Given the description of an element on the screen output the (x, y) to click on. 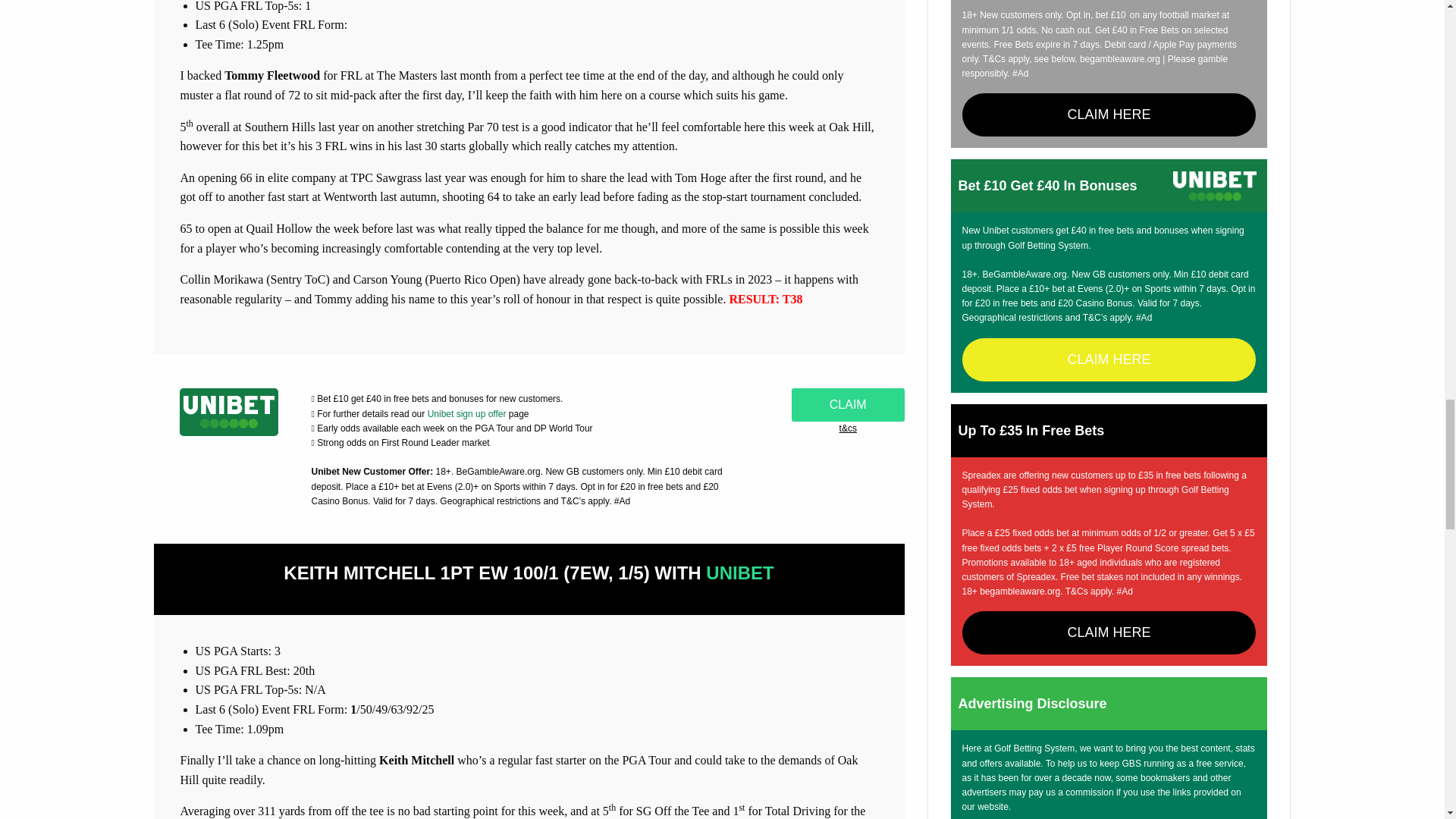
CLAIM (848, 404)
Unibet sign up offer (467, 413)
UNIBET (739, 572)
